Given the description of an element on the screen output the (x, y) to click on. 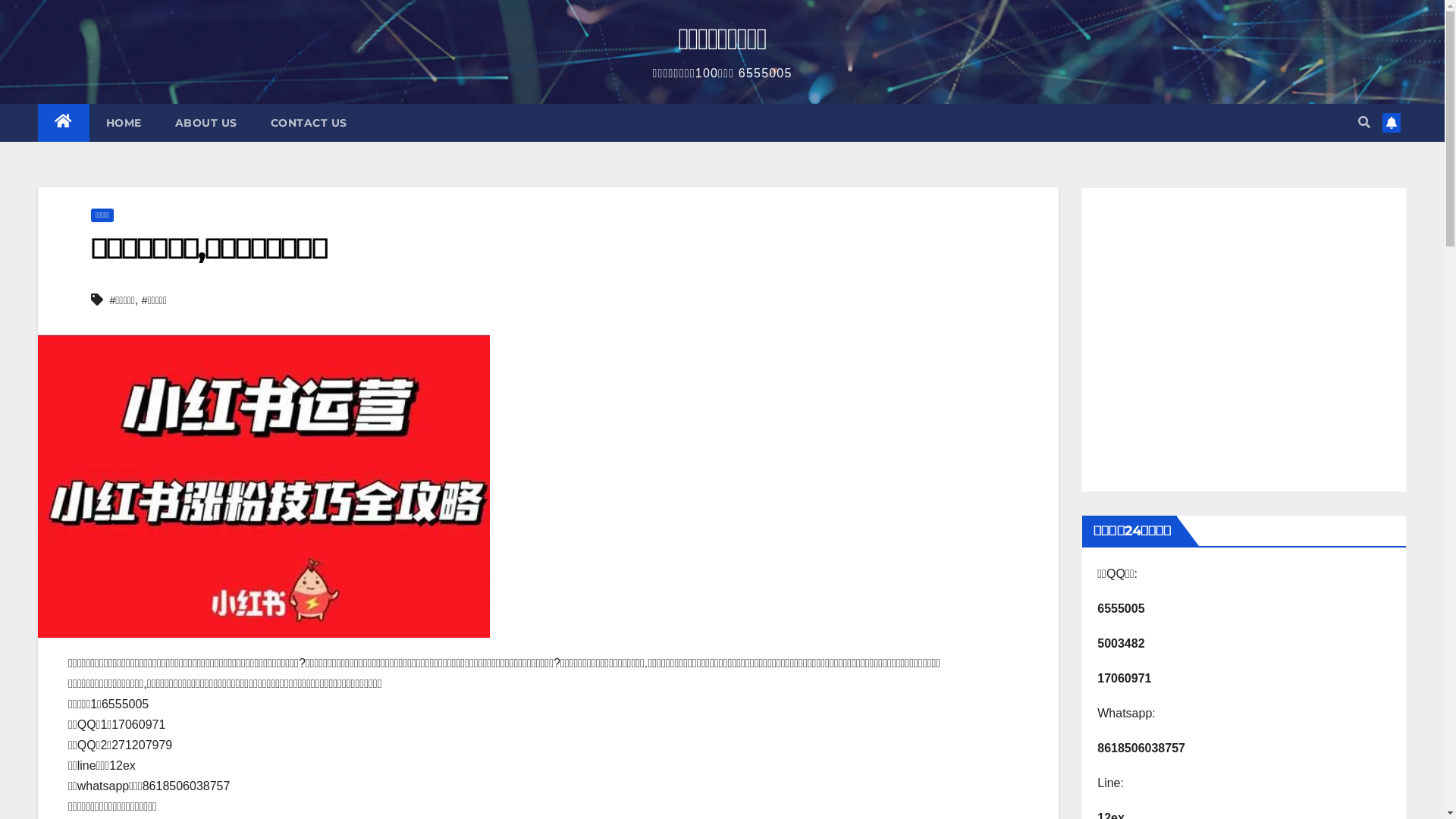
CONTACT US Element type: text (308, 122)
ABOUT US Element type: text (205, 122)
HOME Element type: text (123, 122)
